Given the description of an element on the screen output the (x, y) to click on. 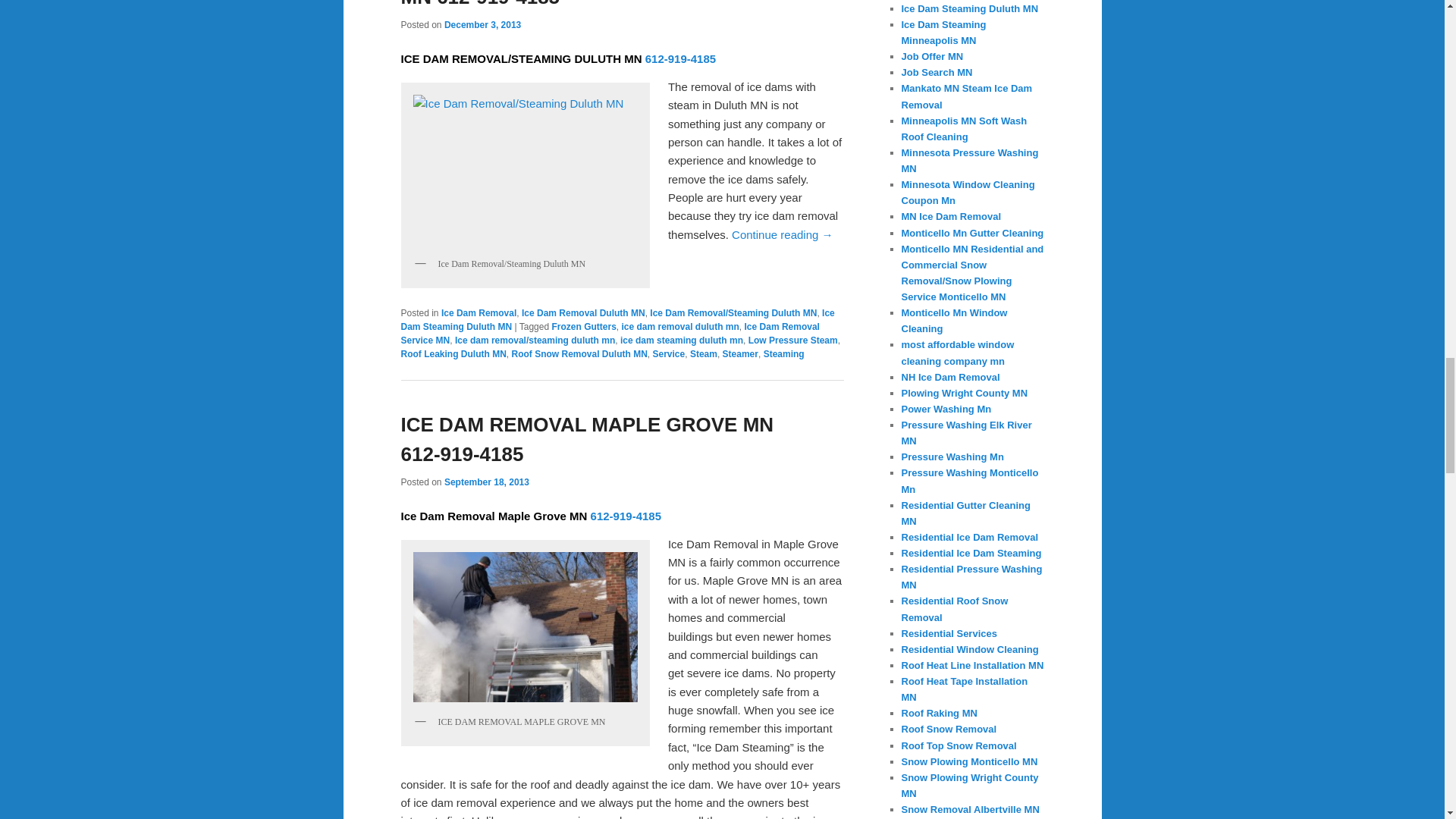
ICE DAM REMOVAL MAPLE GROVE MN (525, 627)
9:40 pm (482, 24)
8:00 pm (486, 481)
